Given the description of an element on the screen output the (x, y) to click on. 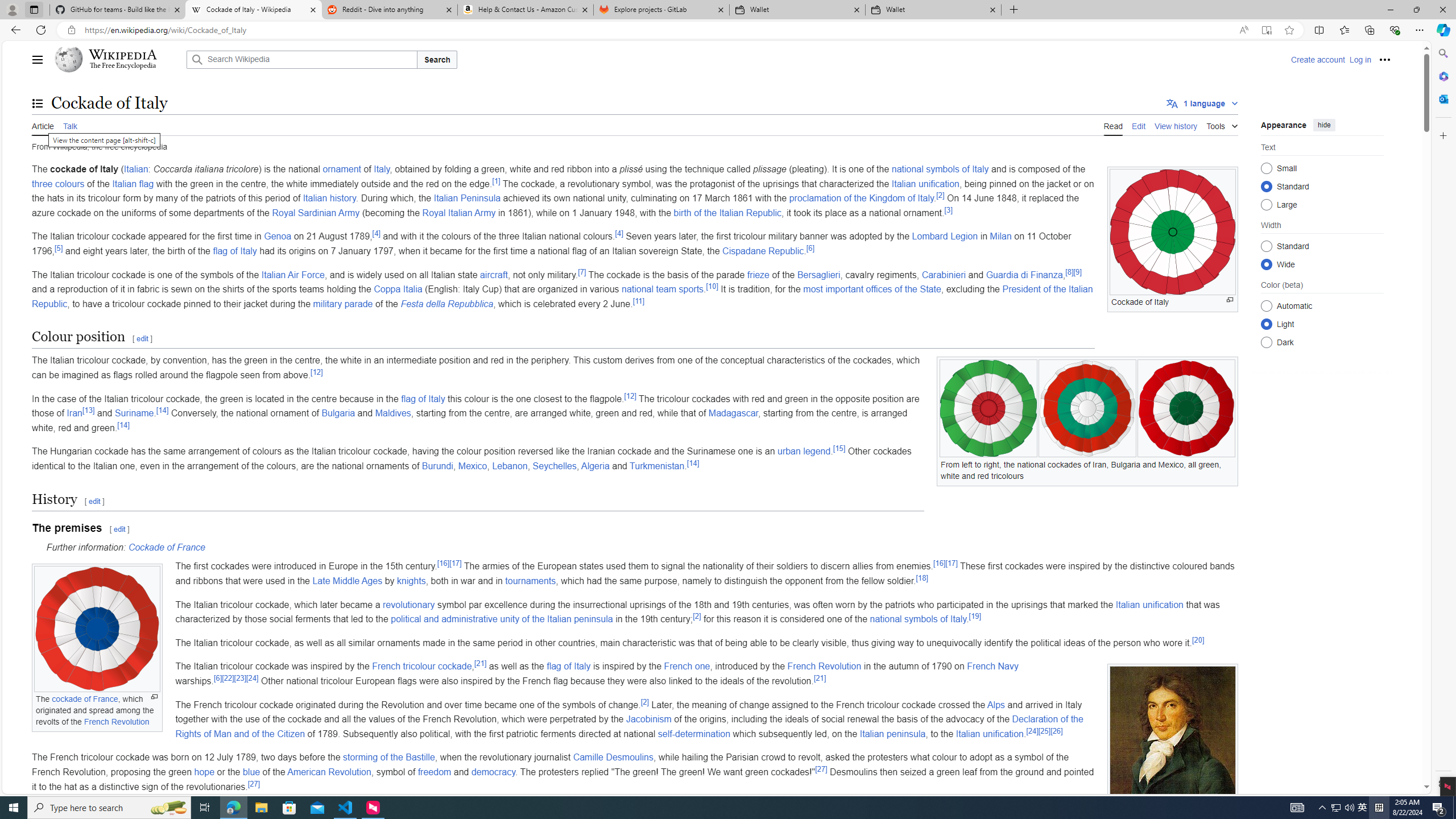
Small (1266, 167)
Create account (1317, 58)
Large (1266, 204)
Read (1112, 124)
[22] (227, 677)
Talk (69, 124)
French tricolour cockade (421, 666)
Cockade of Italy - Wikipedia (253, 9)
frieze (758, 274)
[11] (638, 300)
[6] (217, 677)
Standard (1266, 245)
[10] (711, 285)
